Given the description of an element on the screen output the (x, y) to click on. 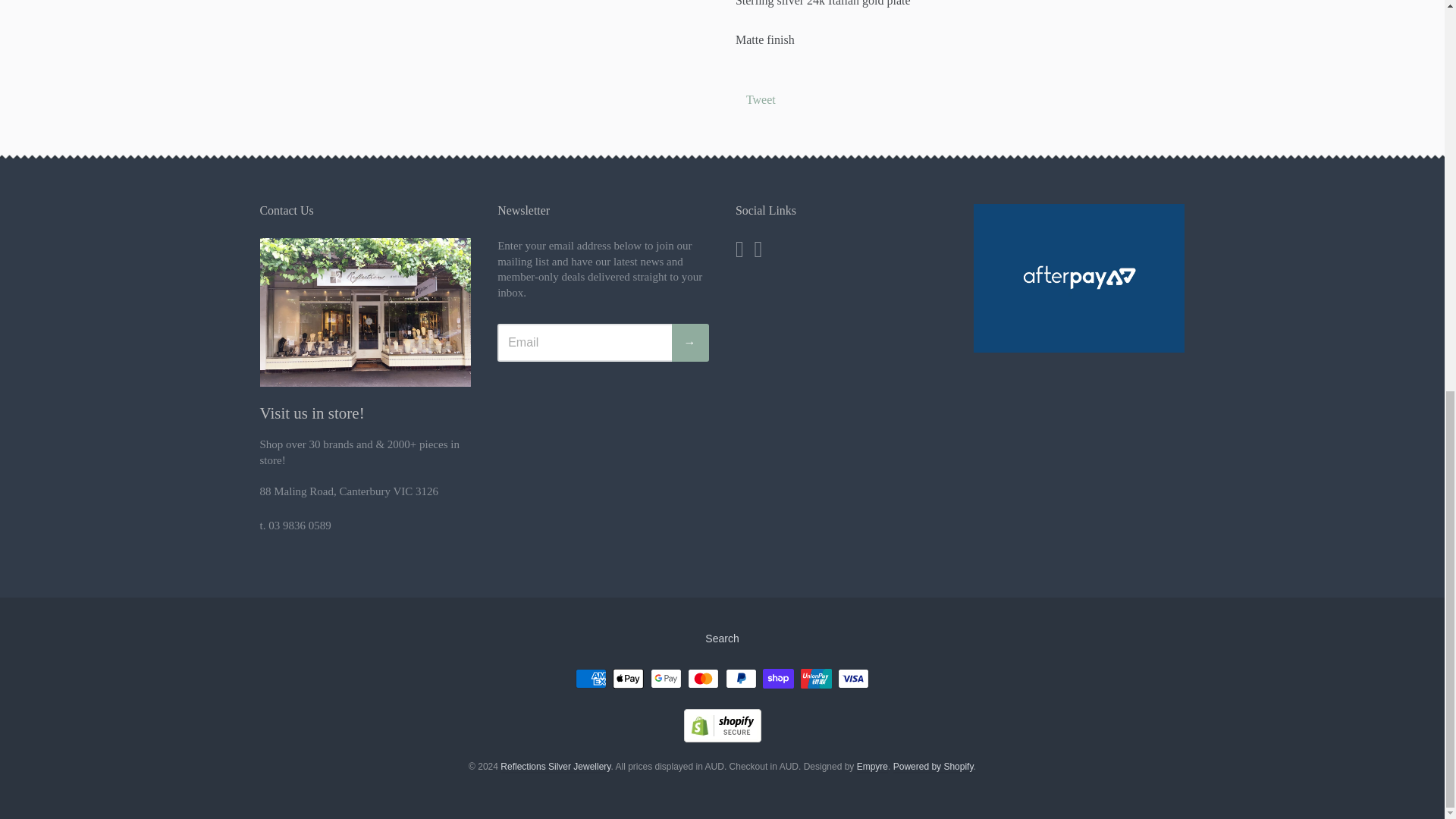
This online store is secured by Shopify (722, 738)
